Given the description of an element on the screen output the (x, y) to click on. 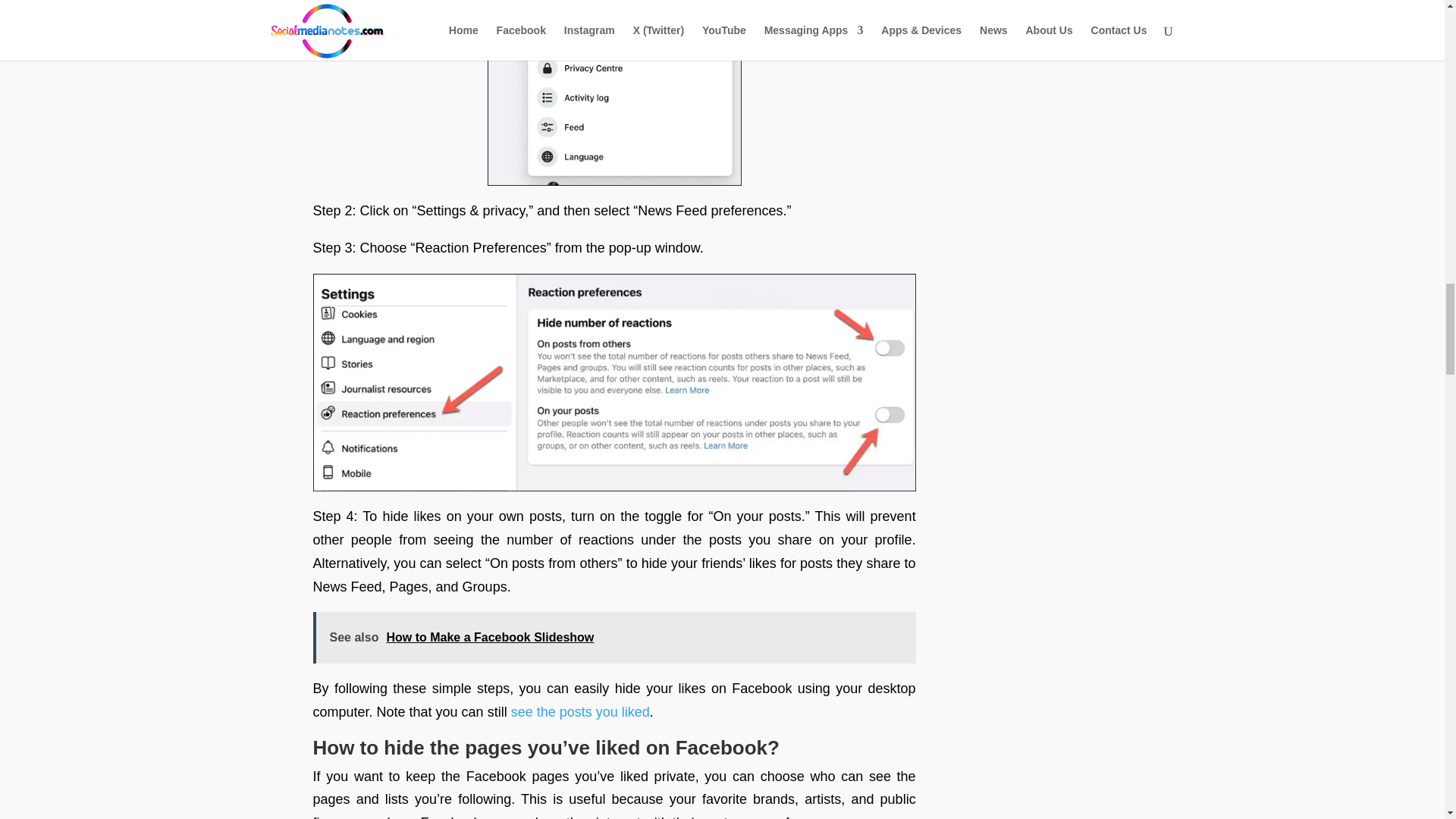
see the posts you liked (580, 711)
See also  How to Make a Facebook Slideshow (614, 637)
